Given the description of an element on the screen output the (x, y) to click on. 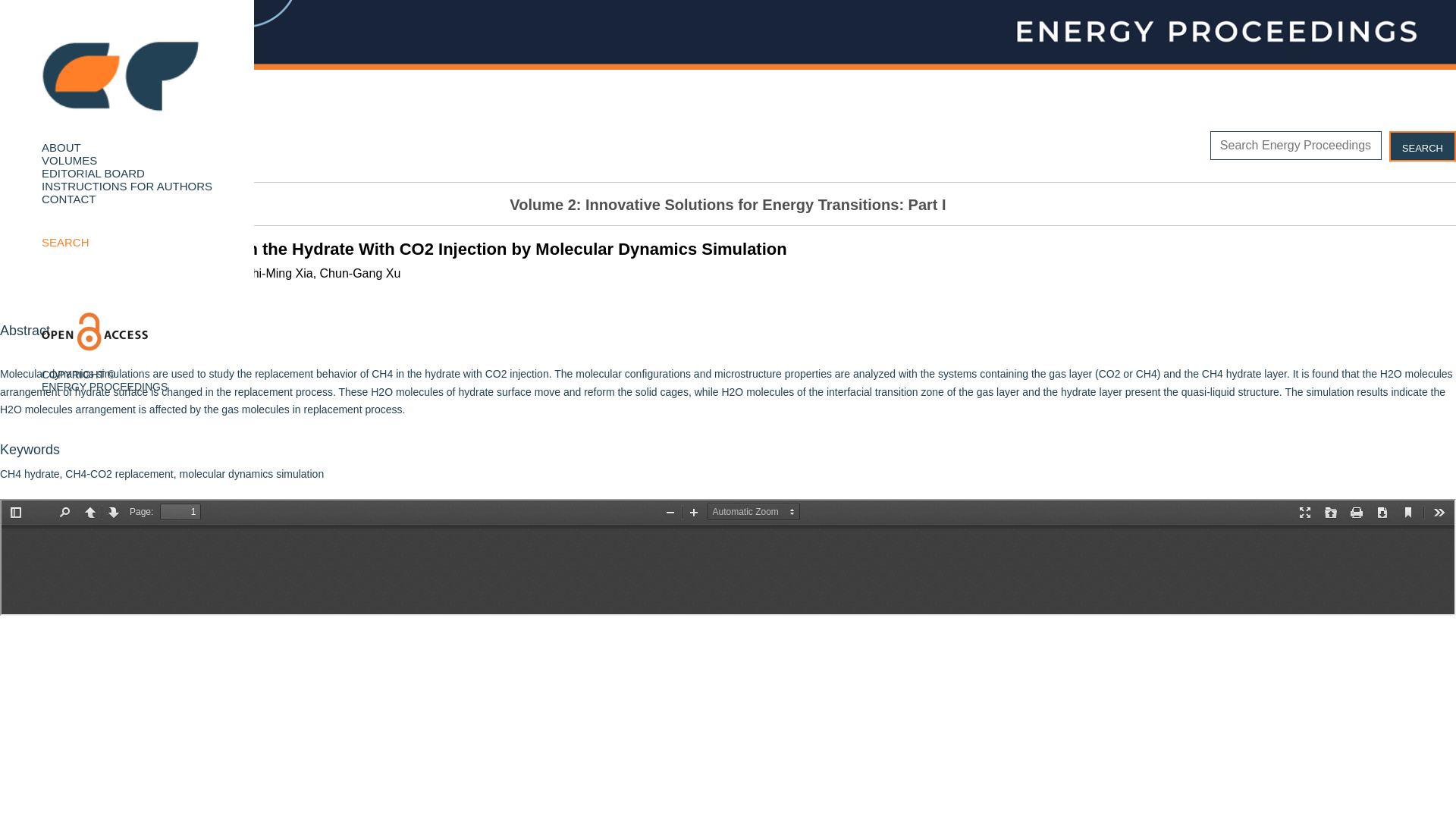
Download full text in PDF (74, 152)
Contact (68, 198)
VOLUMES (68, 160)
EDITORIAL BOARD (92, 172)
EDITORIAL BOARD (92, 172)
ABOUT (60, 147)
Instructions for Authors (126, 185)
CONTACT (68, 198)
About (60, 147)
INSTRUCTIONS FOR AUTHORS (126, 185)
Volumes (68, 160)
SEARCH (65, 242)
